Given the description of an element on the screen output the (x, y) to click on. 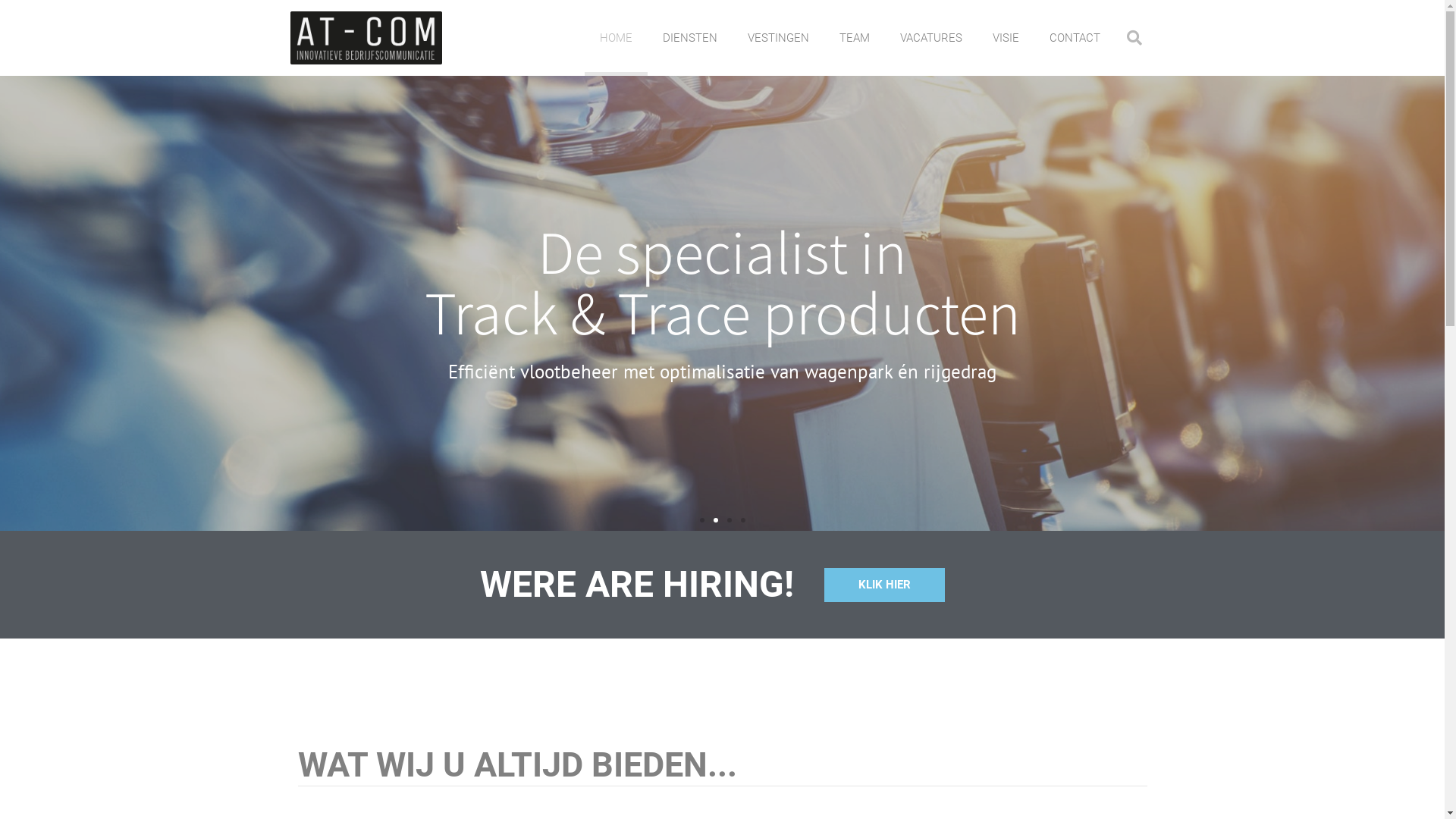
CONTACT Element type: text (1074, 37)
DIENSTEN Element type: text (689, 37)
TEAM Element type: text (853, 37)
HOME Element type: text (614, 37)
KLIK HIER Element type: text (883, 584)
VACATURES Element type: text (930, 37)
VISIE Element type: text (1004, 37)
VESTINGEN Element type: text (778, 37)
